Given the description of an element on the screen output the (x, y) to click on. 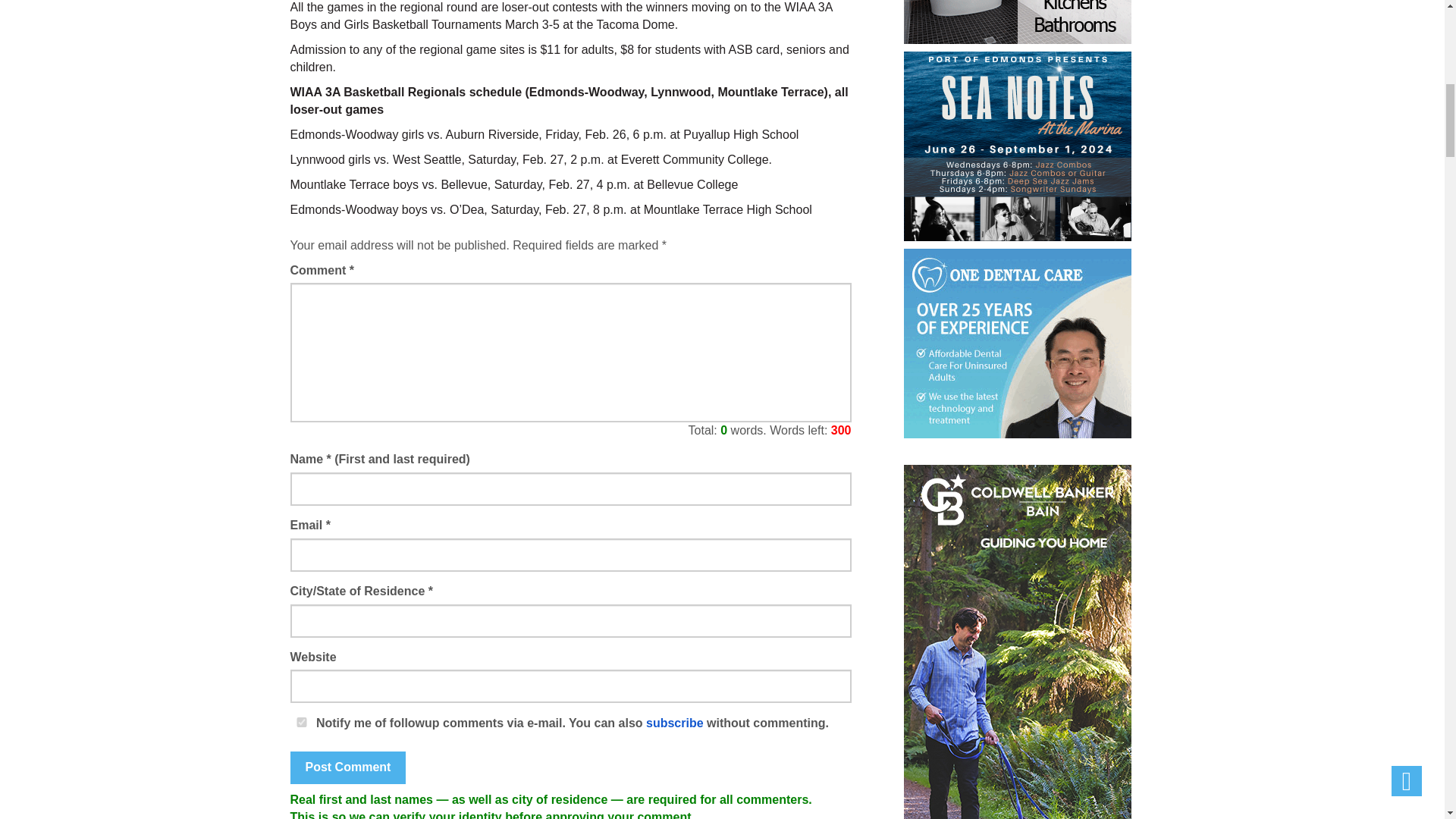
Post Comment (347, 767)
yes (301, 722)
